Given the description of an element on the screen output the (x, y) to click on. 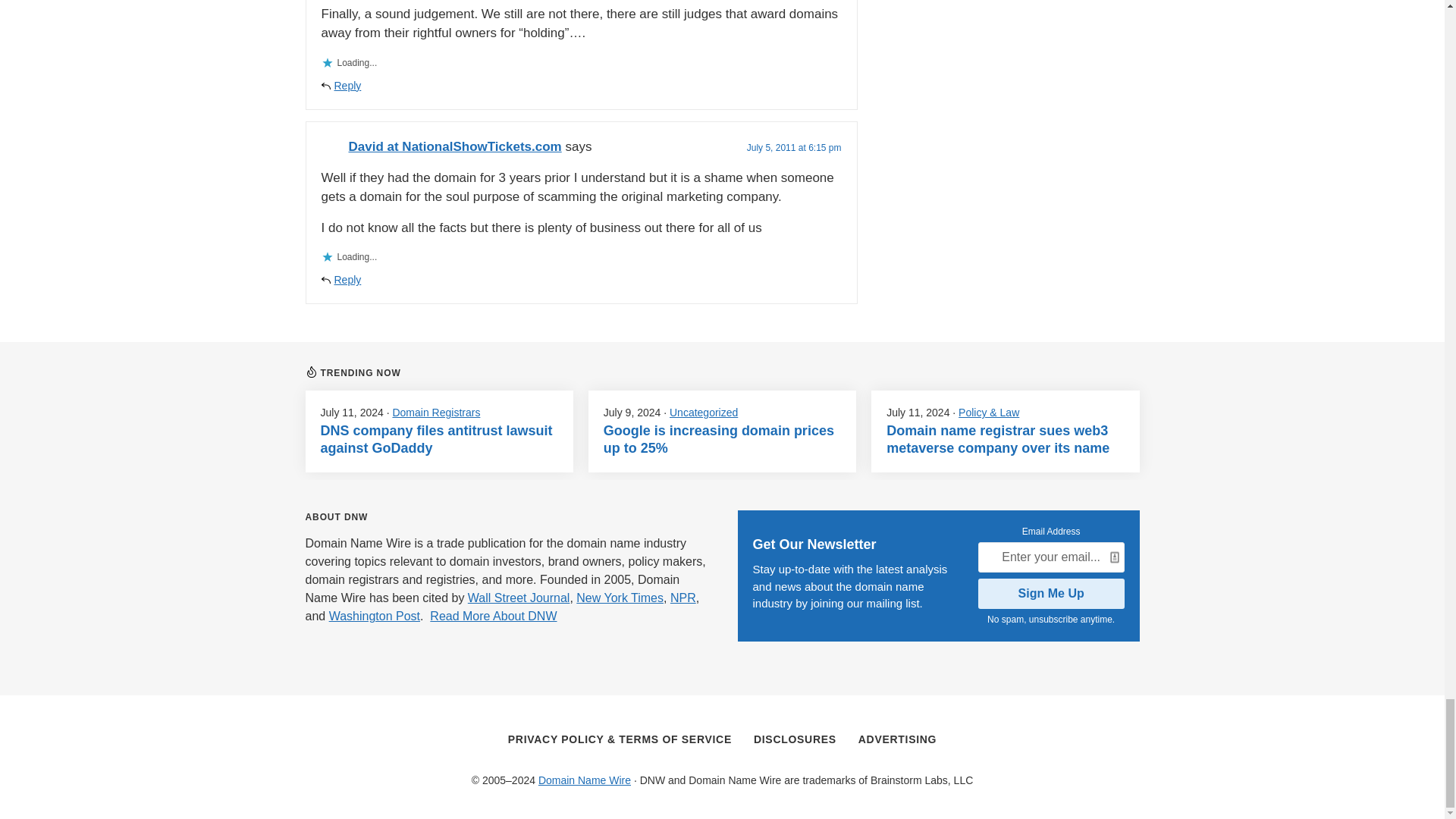
Sign Me Up (1051, 593)
